Given the description of an element on the screen output the (x, y) to click on. 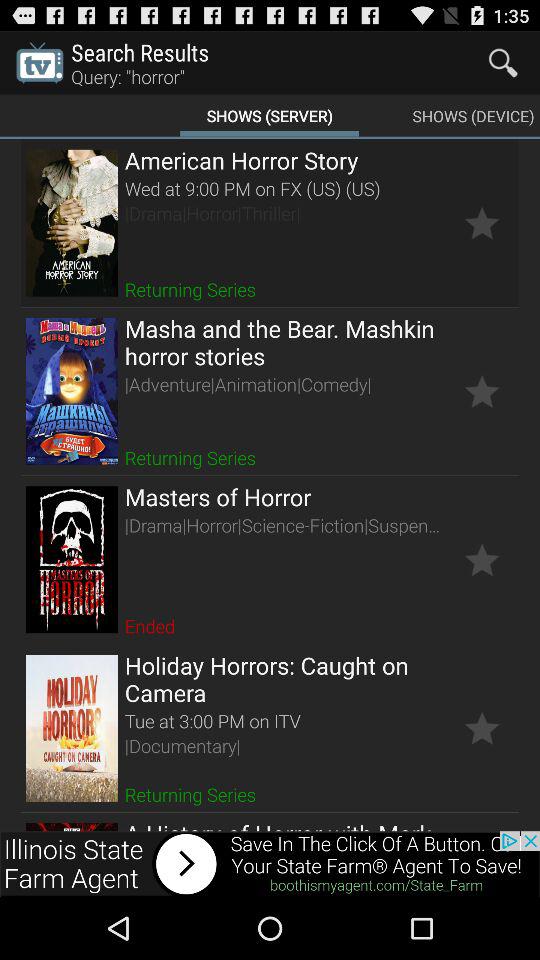
setings option (481, 728)
